Given the description of an element on the screen output the (x, y) to click on. 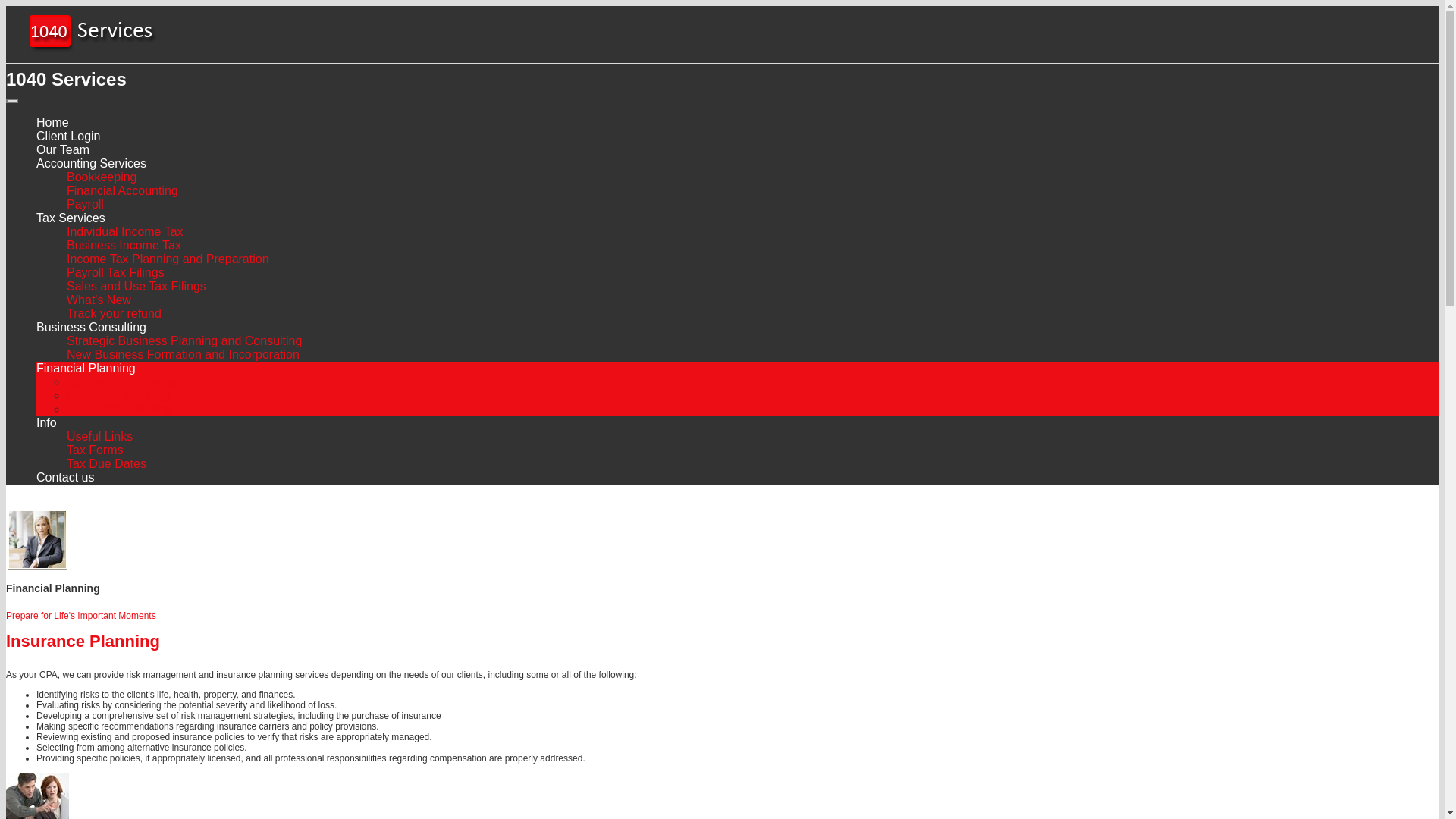
Home Element type: text (52, 122)
Info Element type: text (46, 422)
Financial Planning Element type: text (85, 367)
Useful Links Element type: text (99, 435)
Accounting Services Element type: text (91, 163)
Tax Due Dates Element type: text (106, 463)
Business Consulting Element type: text (91, 327)
Retirement Planning Element type: text (121, 381)
Payroll Tax Filings Element type: text (115, 272)
What's New Element type: text (98, 299)
Client Login Element type: text (68, 135)
New Business Formation and Incorporation Element type: text (182, 354)
Bookkeeping Element type: text (101, 176)
Business Income Tax Element type: text (123, 244)
Prepare for Life's Important Moments Element type: text (81, 615)
Education Planning Element type: text (118, 408)
Strategic Business Planning and Consulting Element type: text (183, 340)
Sales and Use Tax Filings Element type: text (136, 285)
Our Team Element type: text (62, 149)
Tax Forms Element type: text (94, 449)
Insurance Planning Element type: text (118, 395)
Contact us Element type: text (65, 477)
Tax Services Element type: text (70, 217)
Income Tax Planning and Preparation Element type: text (167, 258)
Payroll Element type: text (84, 203)
Track your refund Element type: text (113, 313)
Financial Accounting Element type: text (122, 190)
Individual Income Tax Element type: text (124, 231)
